Given the description of an element on the screen output the (x, y) to click on. 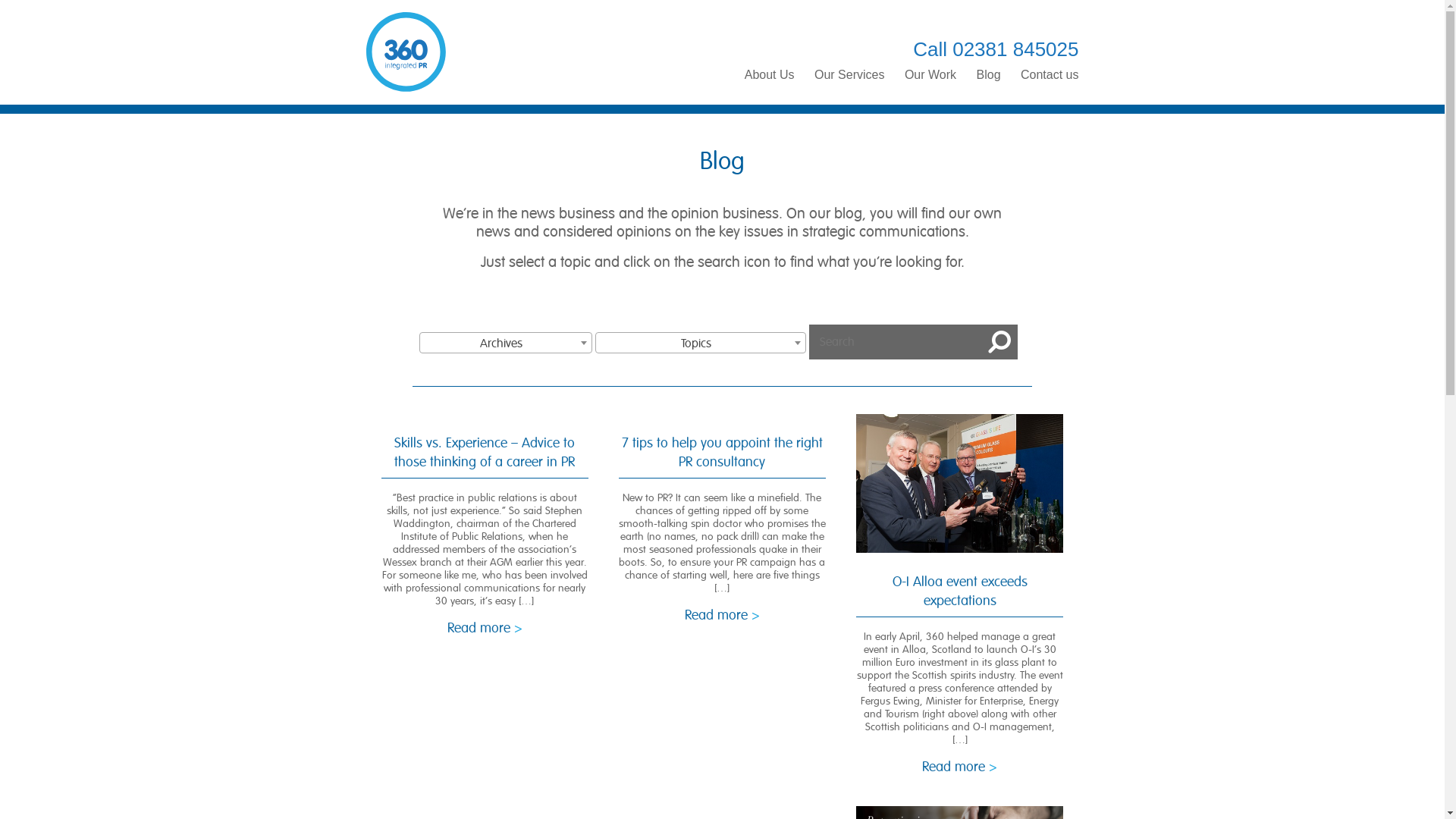
Blog Element type: text (988, 74)
Our Work Element type: text (930, 74)
Contact us Element type: text (1049, 74)
02381 845025 Element type: text (1015, 48)
Our Services Element type: text (849, 74)
Read more Element type: text (484, 627)
O-I Alloa event exceeds expectations Element type: hover (959, 483)
  Element type: text (999, 341)
Skip to content Element type: text (0, 104)
Read more Element type: text (959, 766)
Read more Element type: text (721, 614)
Search for: Element type: hover (896, 341)
O-I Alloa event exceeds expectations Element type: text (959, 590)
About Us Element type: text (769, 74)
360 integrated PR Element type: hover (405, 53)
7 tips to help you appoint the right PR consultancy Element type: text (721, 452)
